Given the description of an element on the screen output the (x, y) to click on. 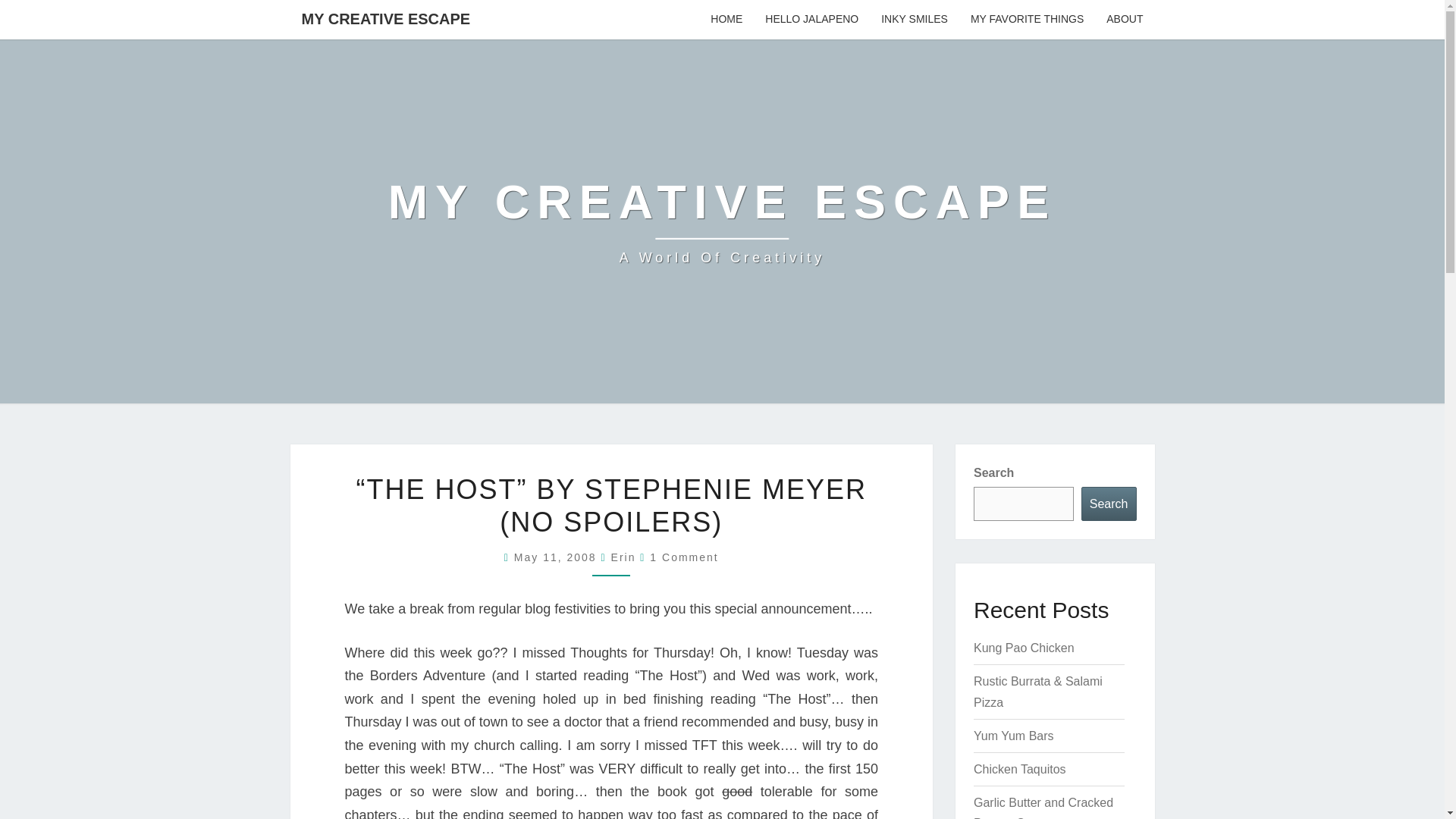
MY FAVORITE THINGS (1026, 19)
Search (1109, 503)
Chicken Taquitos (1019, 768)
ABOUT (1124, 19)
May 11, 2008 (557, 557)
HOME (726, 19)
Kung Pao Chicken (1024, 647)
INKY SMILES (914, 19)
HELLO JALAPENO (811, 19)
6:30 am (557, 557)
